Given the description of an element on the screen output the (x, y) to click on. 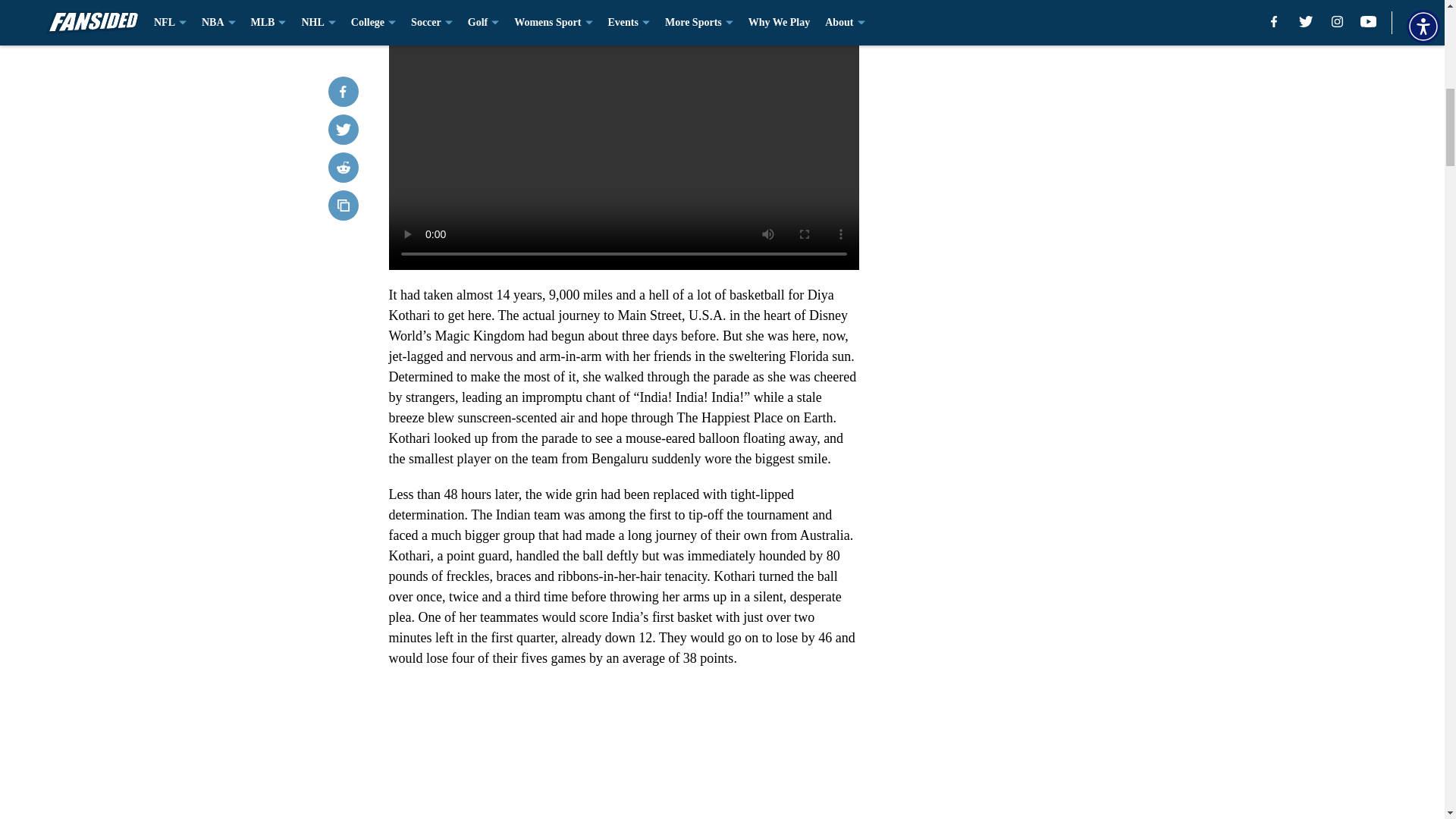
3rd party ad content (1047, 305)
3rd party ad content (1047, 100)
